Given the description of an element on the screen output the (x, y) to click on. 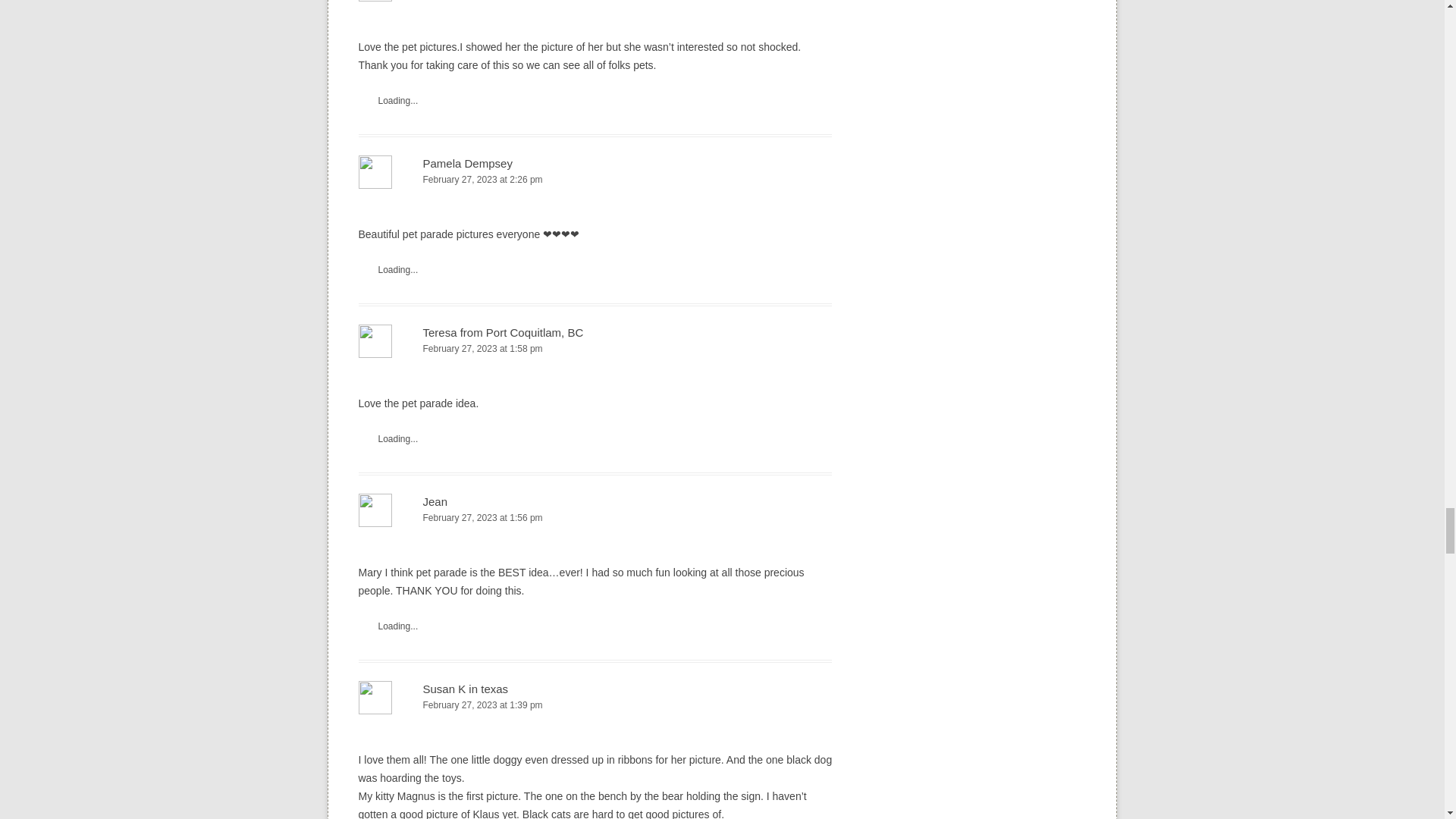
February 27, 2023 at 1:58 pm (594, 349)
February 27, 2023 at 1:56 pm (594, 518)
February 27, 2023 at 2:26 pm (594, 179)
